Given the description of an element on the screen output the (x, y) to click on. 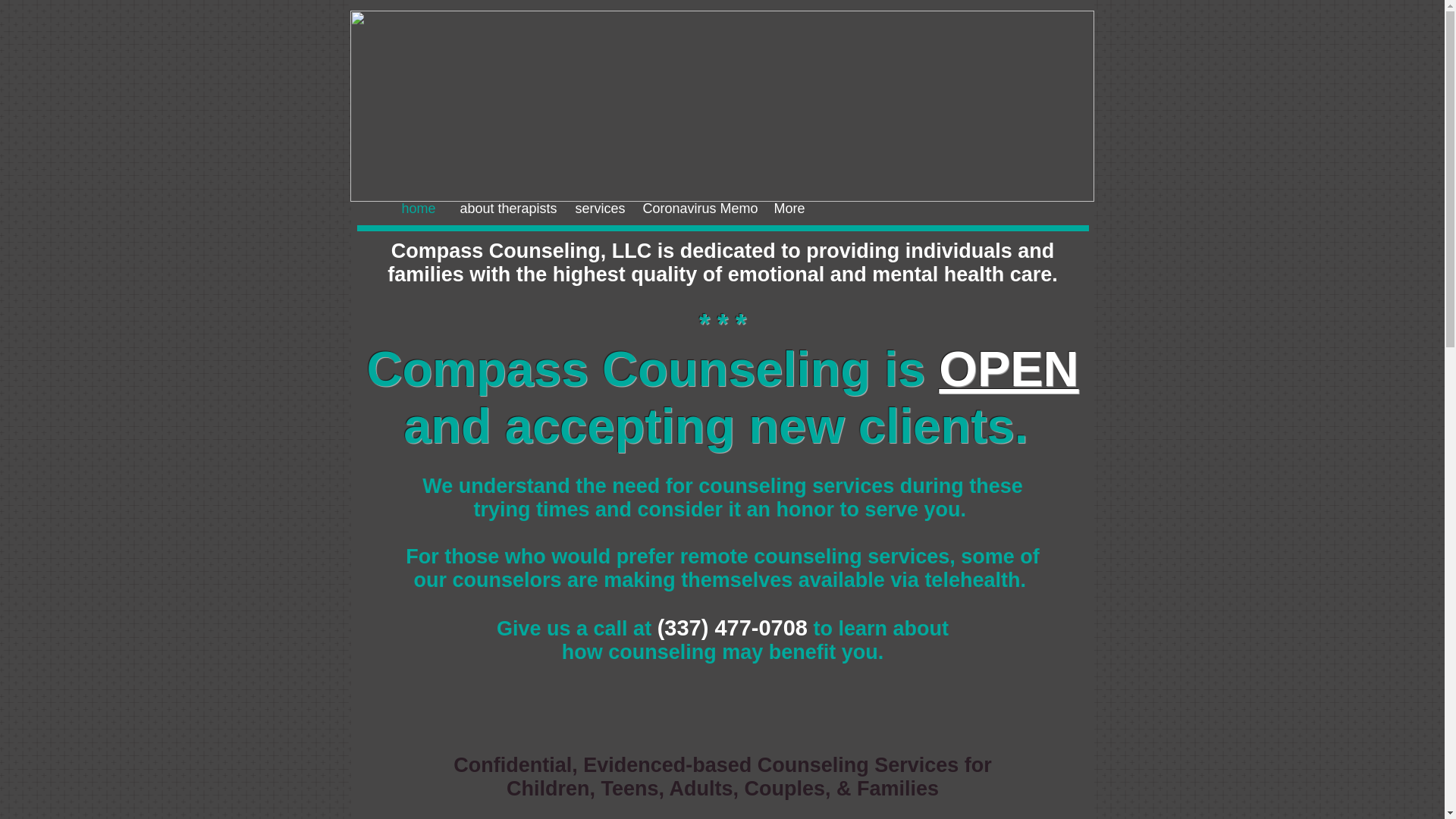
home (418, 209)
Coronavirus Memo (698, 209)
about therapists (503, 209)
services (597, 209)
